Given the description of an element on the screen output the (x, y) to click on. 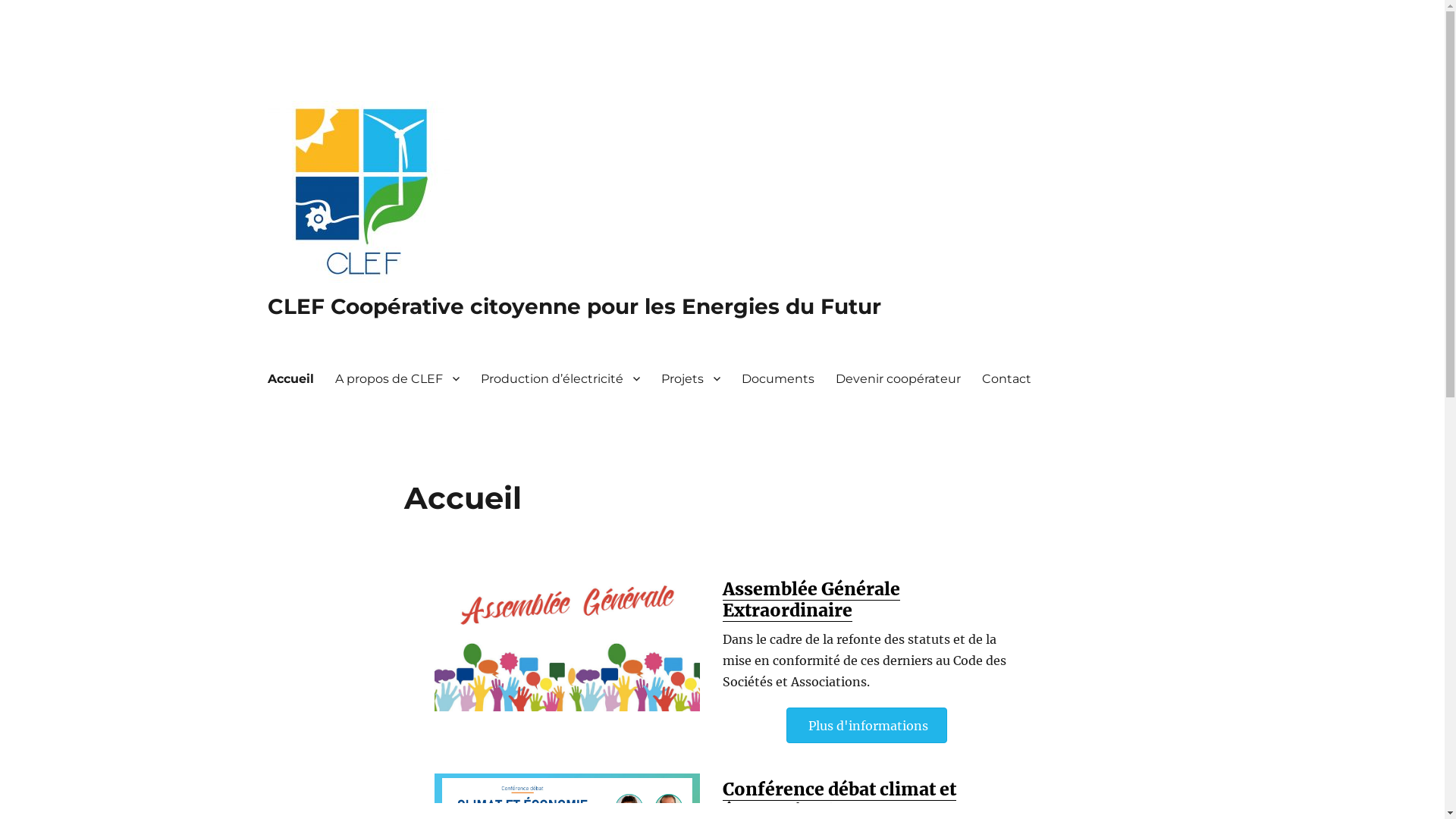
Documents Element type: text (778, 378)
Accueil Element type: text (289, 378)
ag Element type: hover (566, 644)
Plus d'informations Element type: text (865, 725)
Contact Element type: text (1005, 378)
A propos de CLEF Element type: text (397, 378)
Projets Element type: text (690, 378)
